Given the description of an element on the screen output the (x, y) to click on. 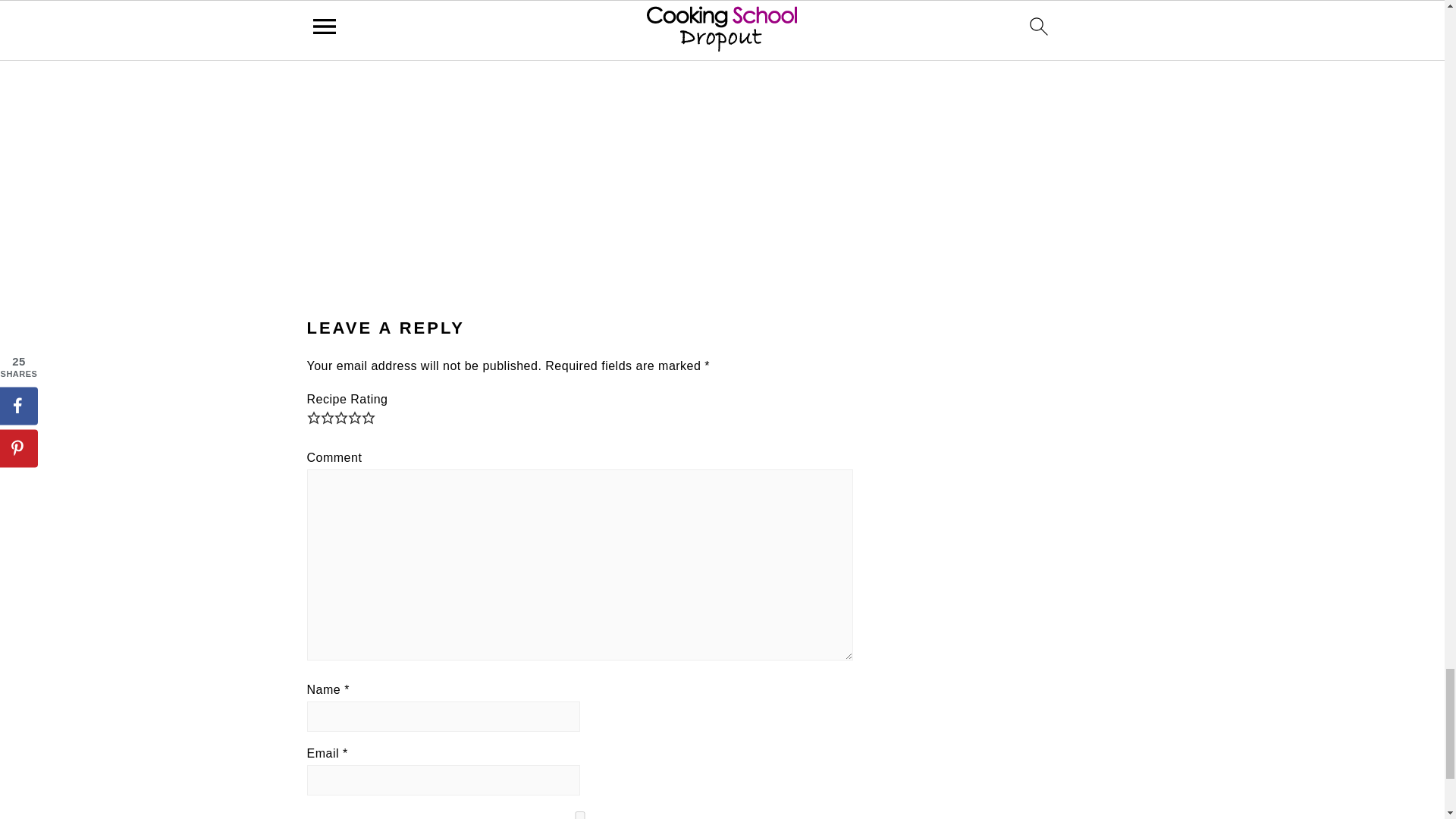
yes (578, 815)
